Given the description of an element on the screen output the (x, y) to click on. 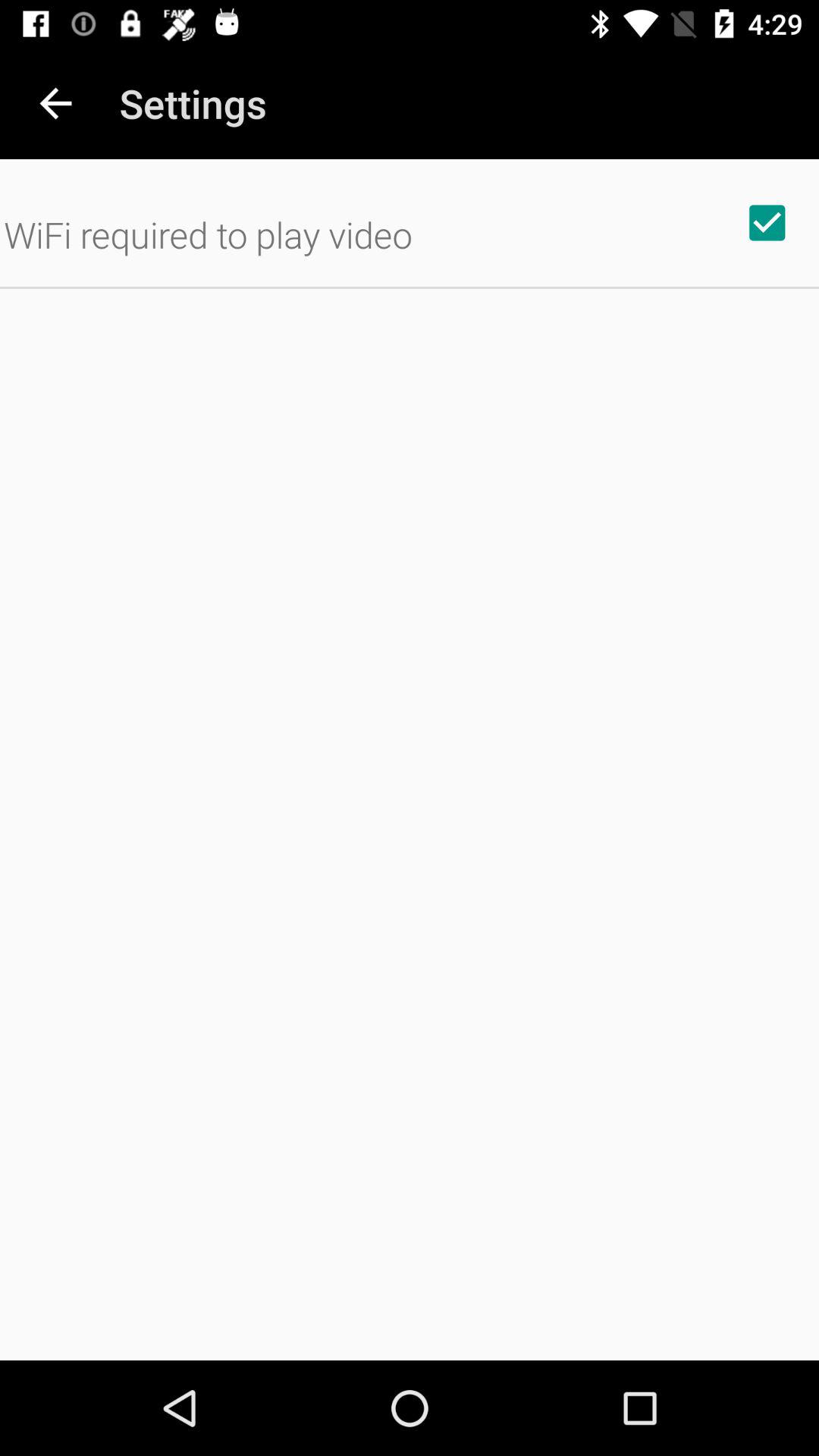
press icon next to wifi required to app (767, 222)
